Given the description of an element on the screen output the (x, y) to click on. 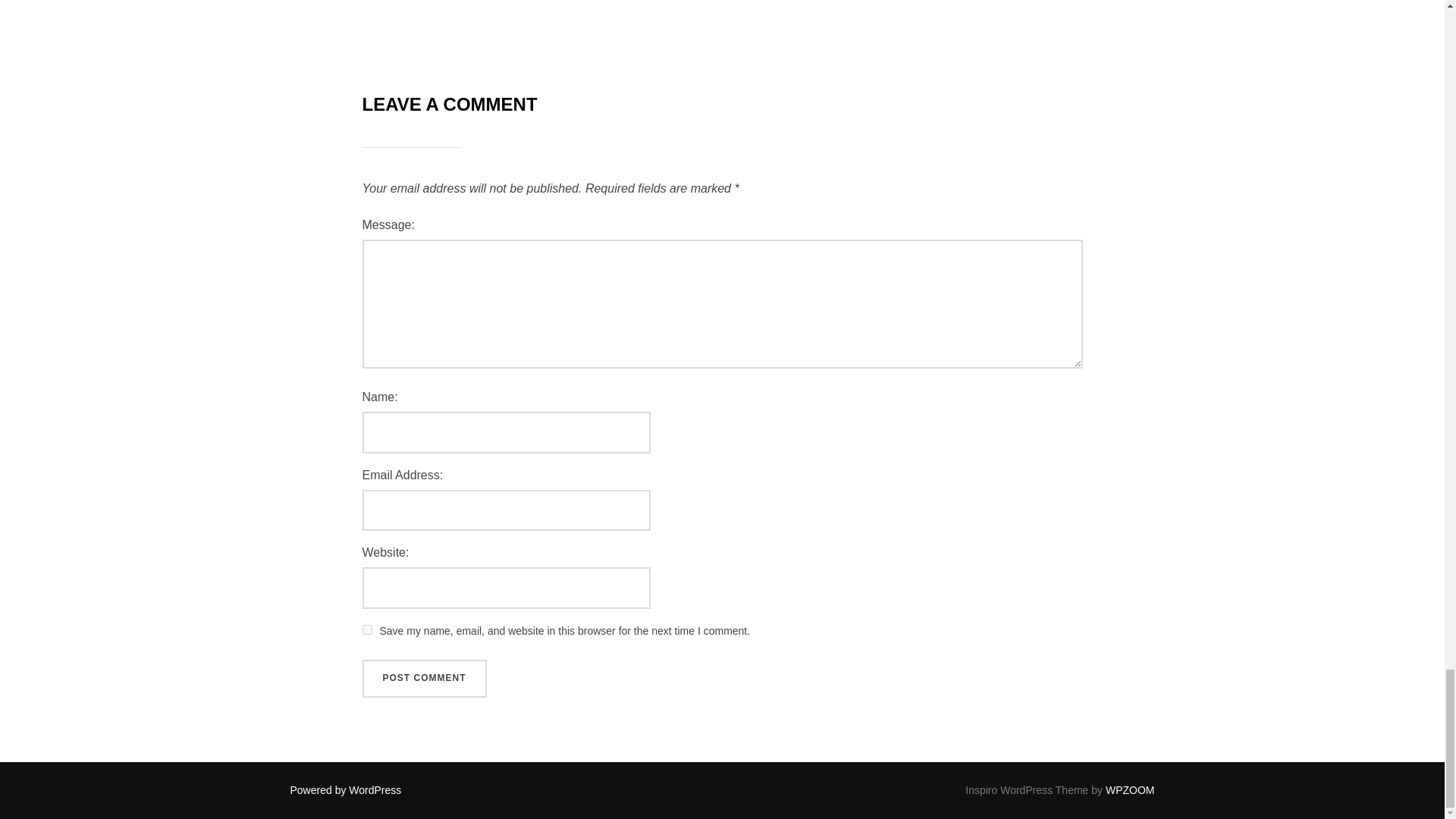
Post Comment (424, 678)
Post Comment (424, 678)
WPZOOM (1129, 789)
yes (367, 629)
Powered by WordPress (345, 789)
